Given the description of an element on the screen output the (x, y) to click on. 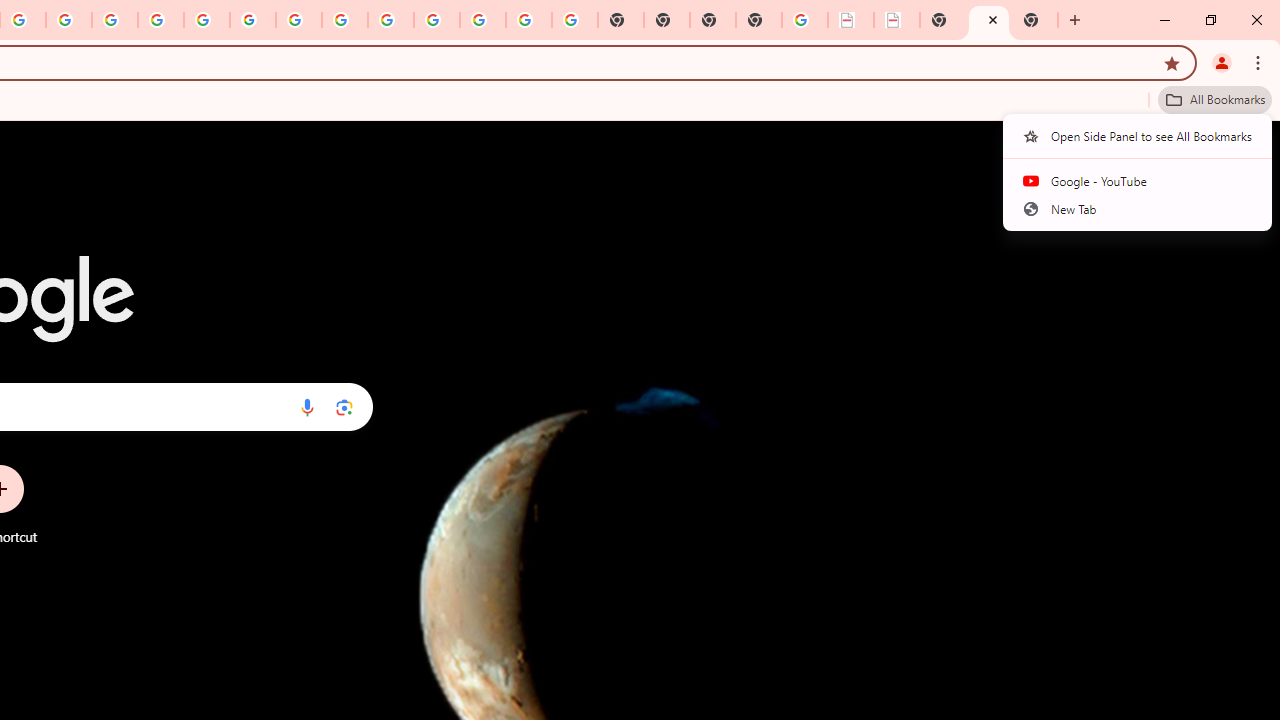
YouTube (299, 20)
